Given the description of an element on the screen output the (x, y) to click on. 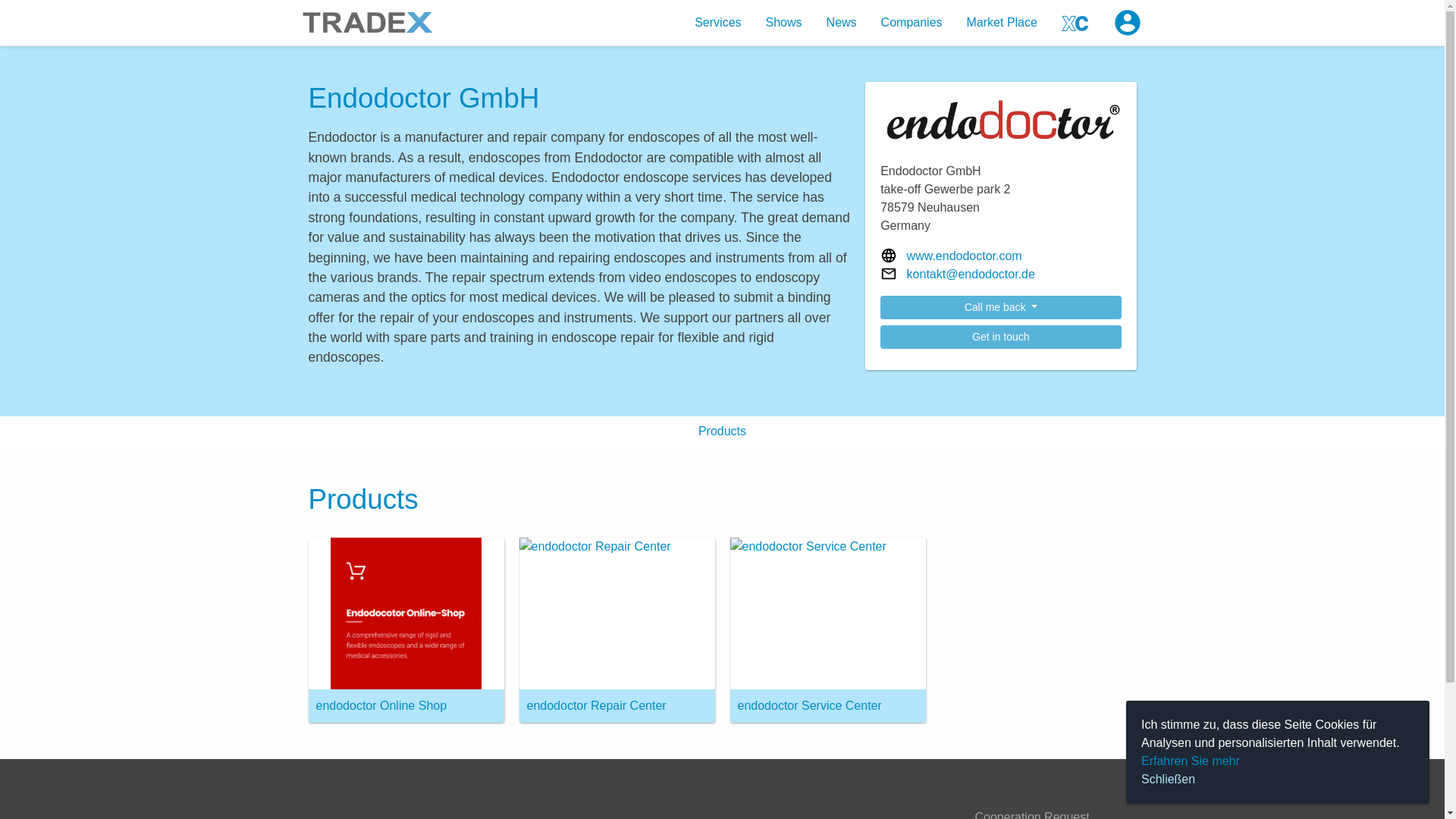
endodoctor Online Shop (405, 629)
Erfahren Sie mehr (1190, 761)
www.endodoctor.com (964, 256)
Get in touch (1000, 336)
endodoctor Service Center (826, 629)
Companies (912, 22)
News (841, 22)
Products (721, 431)
Shows (783, 22)
endodoctor Repair Center (616, 629)
Call me back (1000, 307)
Services (717, 22)
Market Place (1002, 22)
Cooperation Request (1032, 813)
